Given the description of an element on the screen output the (x, y) to click on. 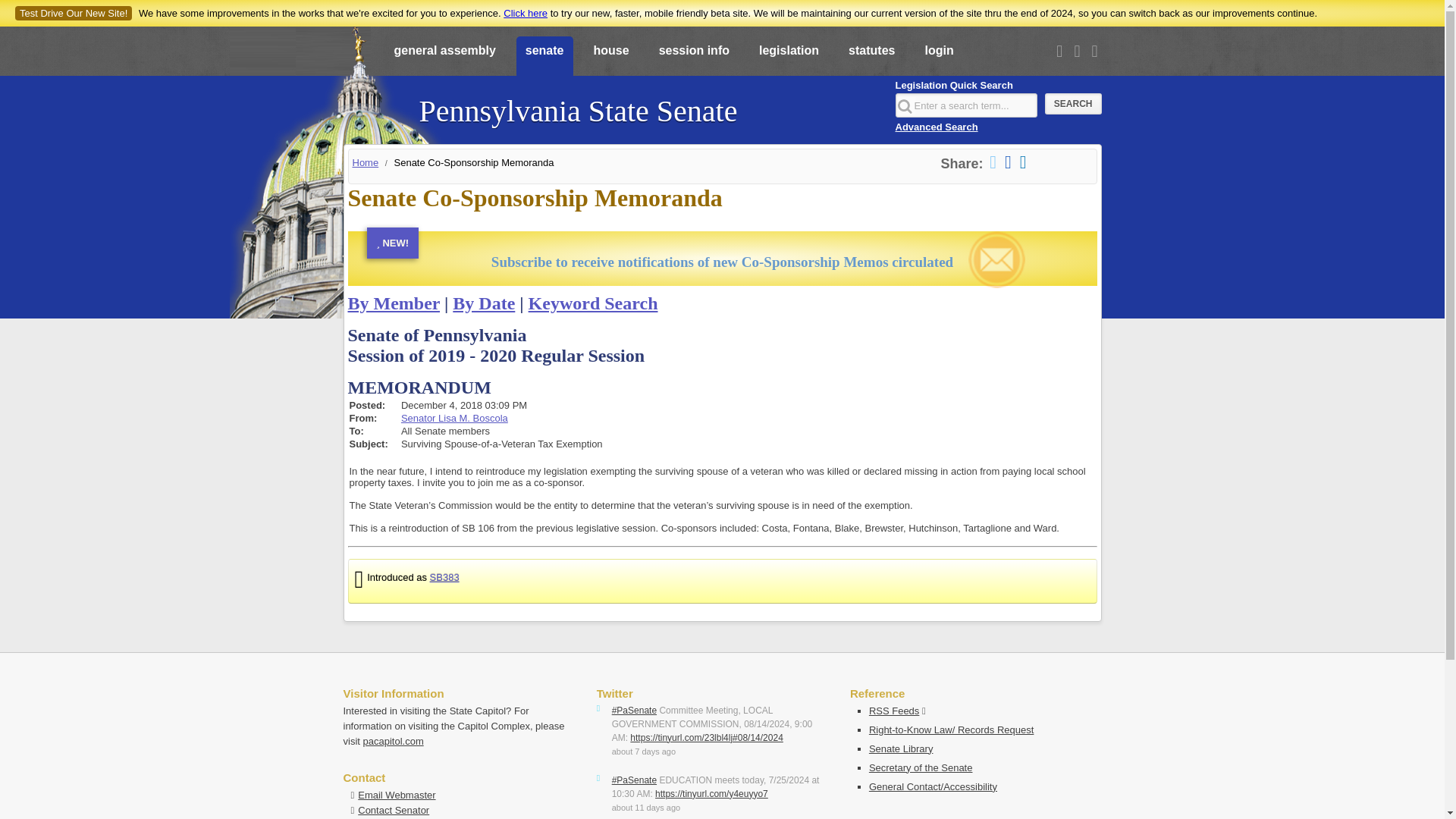
Search (1073, 103)
Advanced Search (935, 126)
Pennsylvania State Senate (577, 102)
session info (693, 57)
statutes (872, 57)
Search (1073, 103)
general assembly (445, 57)
legislation (788, 57)
Click here (525, 12)
senate (544, 57)
